Given the description of an element on the screen output the (x, y) to click on. 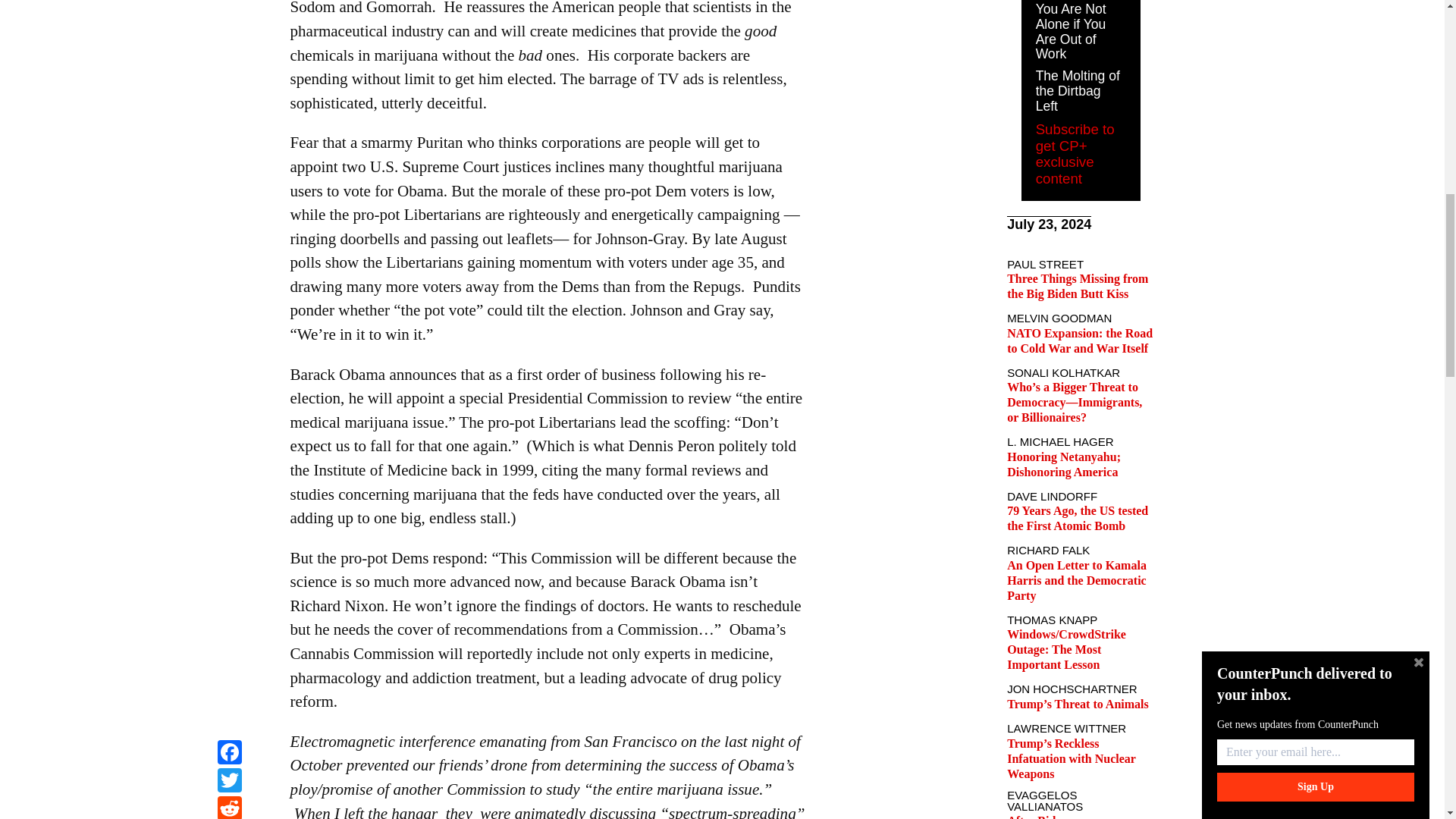
Email (229, 18)
Reddit (229, 2)
You Are Not Alone if You Are Out of Work (1070, 31)
Reddit (229, 2)
Three Things Missing from the Big Biden Butt Kiss (1077, 285)
Email (229, 18)
The Molting of the Dirtbag Left (1077, 90)
